Given the description of an element on the screen output the (x, y) to click on. 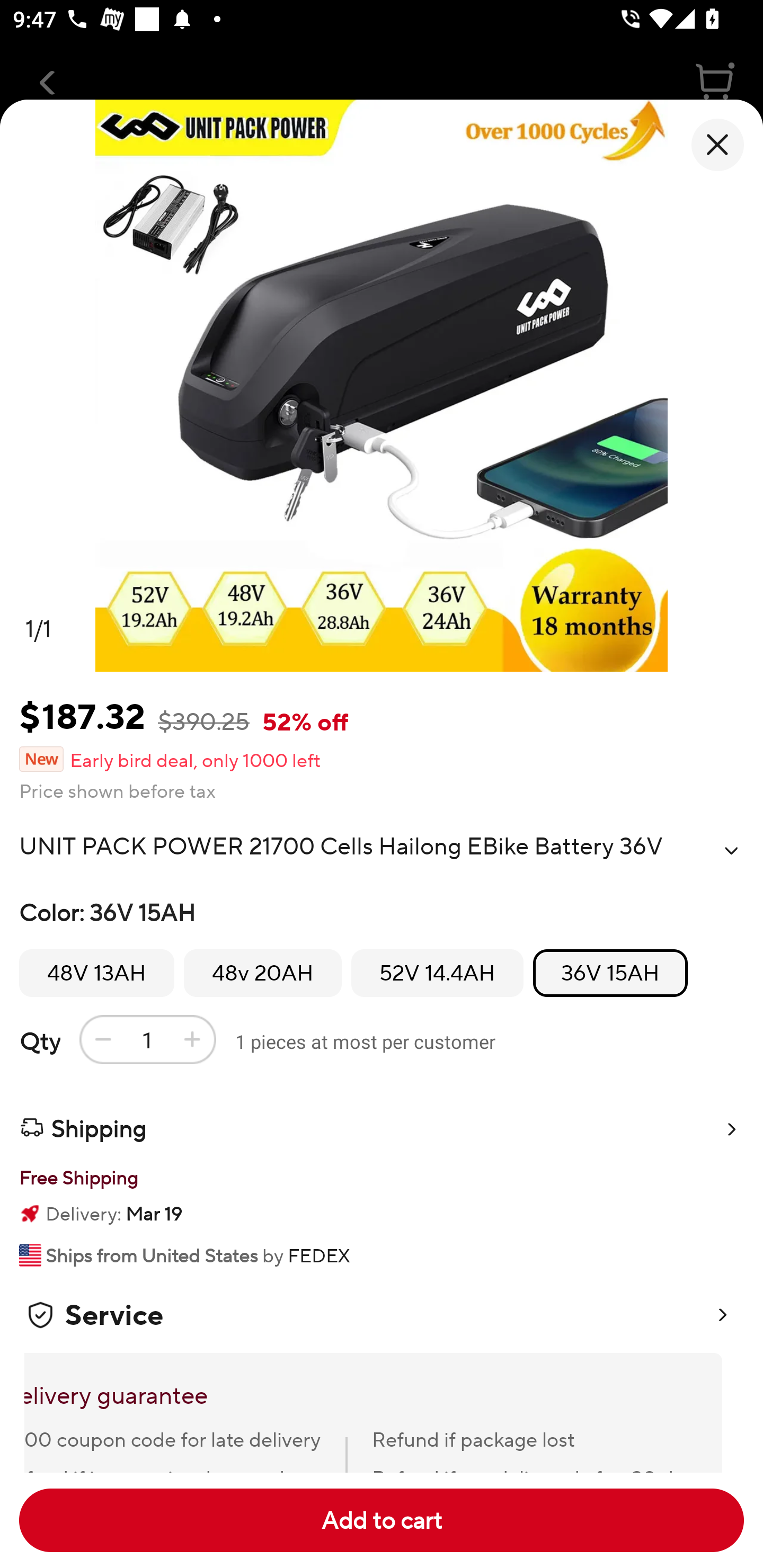
close  (717, 144)
 (730, 850)
48V 13AH (96, 972)
48v 20AH (262, 972)
52V 14.4AH (436, 972)
36V 15AH (610, 972)
Add to cart (381, 1520)
